Given the description of an element on the screen output the (x, y) to click on. 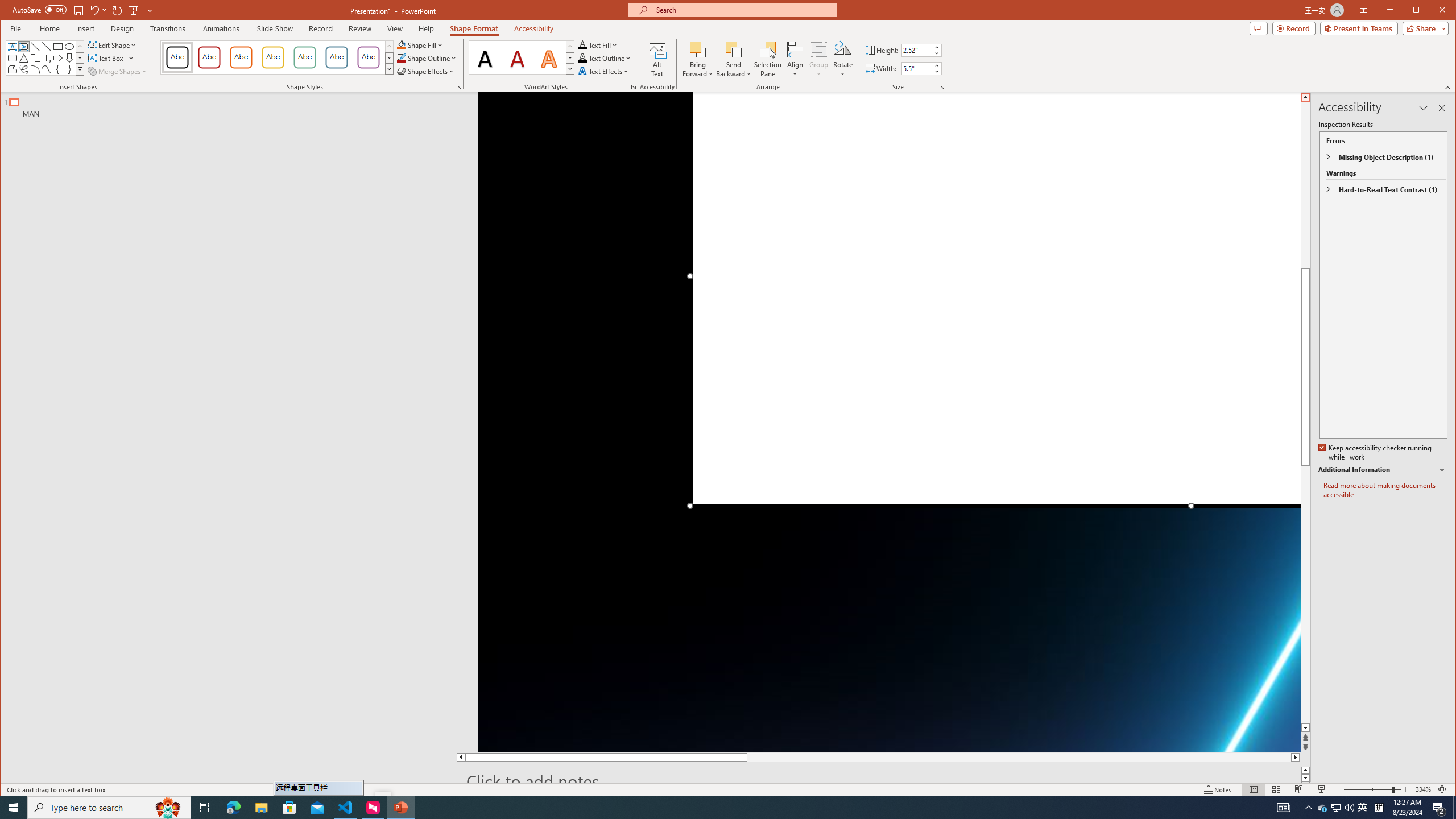
Send Backward (733, 48)
Rotate (842, 59)
Bring Forward (697, 59)
